Given the description of an element on the screen output the (x, y) to click on. 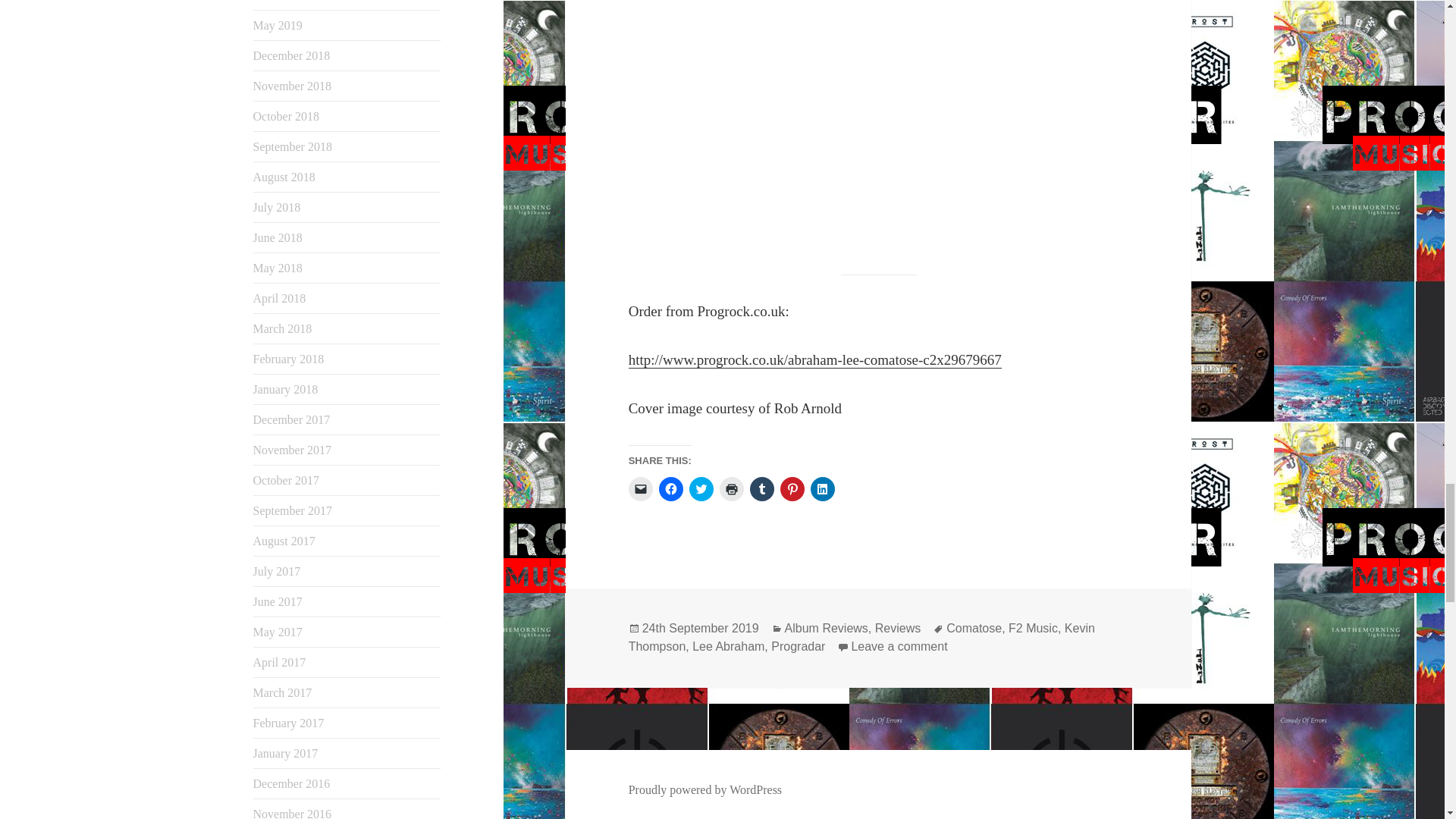
Click to share on Facebook (670, 488)
Click to share on Tumblr (761, 488)
Click to email a link to a friend (640, 488)
Click to share on Pinterest (792, 488)
Click to share on Twitter (700, 488)
Click to share on LinkedIn (822, 488)
Click to print (731, 488)
